Given the description of an element on the screen output the (x, y) to click on. 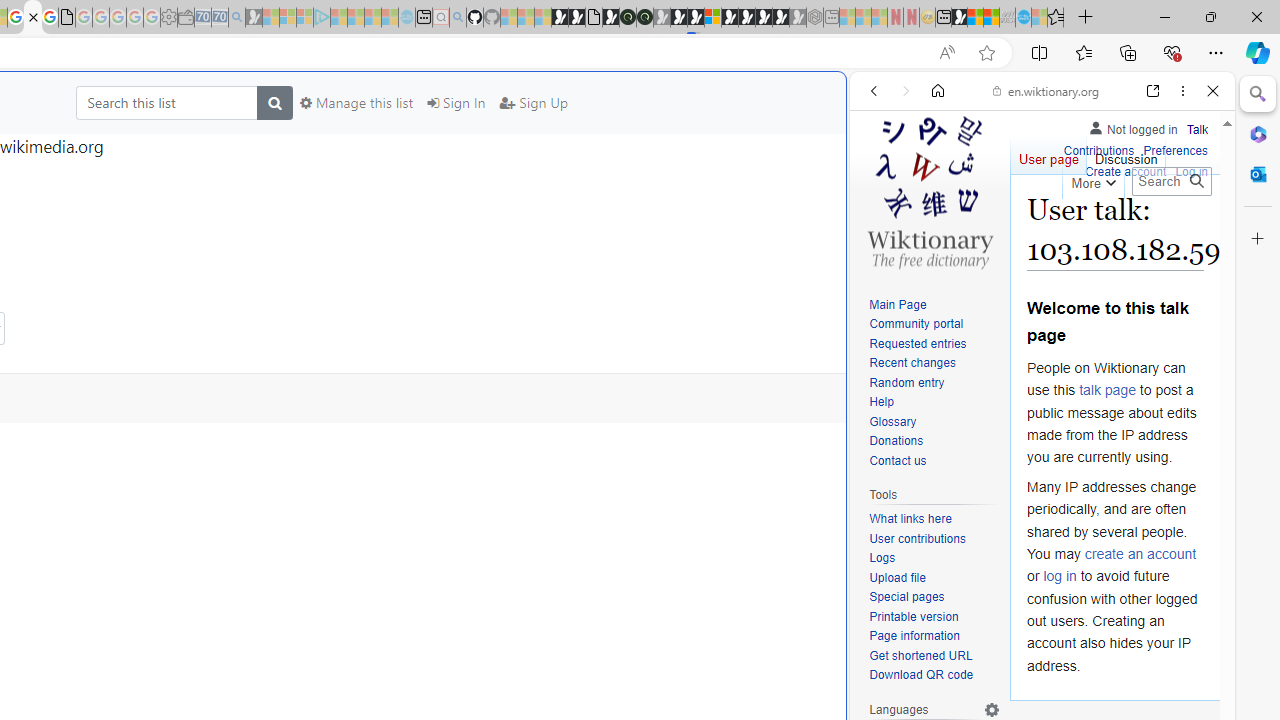
Search Filter, IMAGES (939, 228)
Logs (882, 557)
Not logged in (1132, 126)
Requested entries (934, 344)
Printable version (913, 616)
Preferences (1175, 151)
Special pages (906, 596)
